Given the description of an element on the screen output the (x, y) to click on. 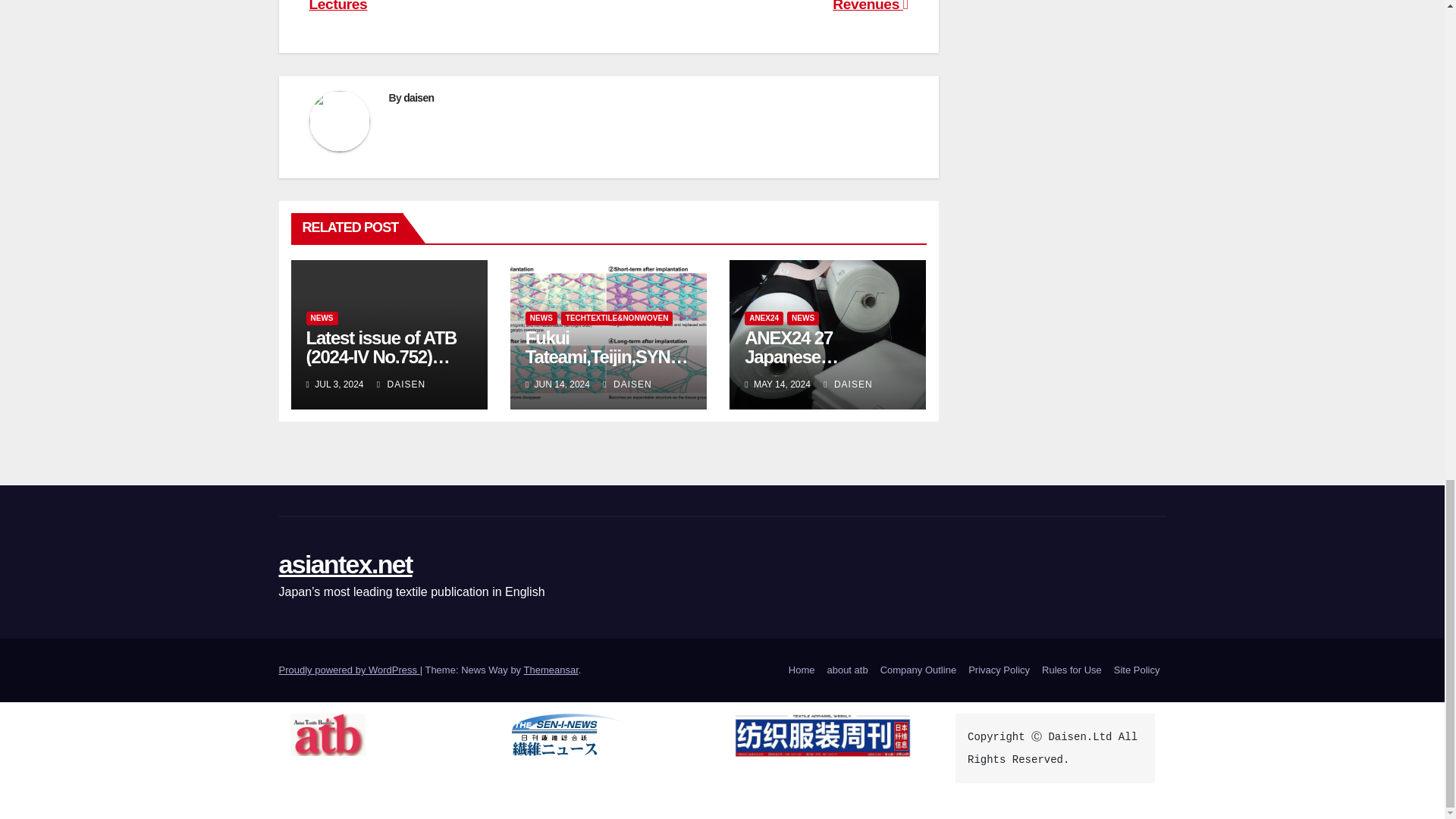
ANEX24 (763, 318)
NEWS (802, 318)
ANEX24 27 Japanese Companies Are Exhibiting (805, 365)
DAISEN (626, 384)
NEWS (541, 318)
Permalink to: ANEX24 27 Japanese Companies Are Exhibiting (805, 365)
Home (802, 670)
Texprocess Forum to Have Around 40 Lectures (438, 6)
daisen (418, 97)
NEWS (321, 318)
DAISEN (401, 384)
